Given the description of an element on the screen output the (x, y) to click on. 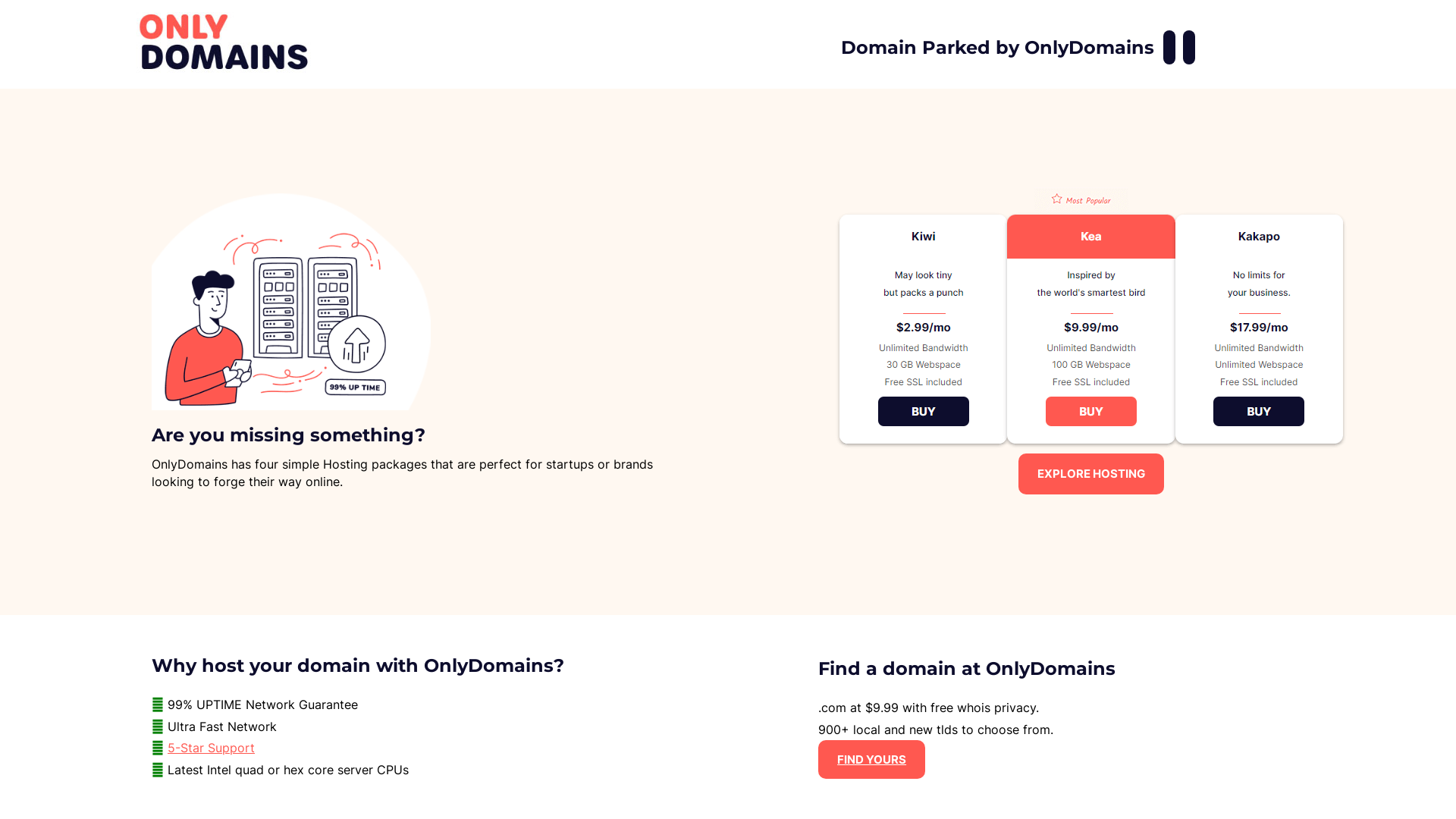
5-Star Support Element type: text (210, 747)
FIND YOURS Element type: text (871, 759)
OnlyDomains Twitter Element type: hover (1188, 47)
EXPLORE HOSTING Element type: text (1091, 473)
OnlyDomains Facebook Element type: hover (1169, 47)
